Given the description of an element on the screen output the (x, y) to click on. 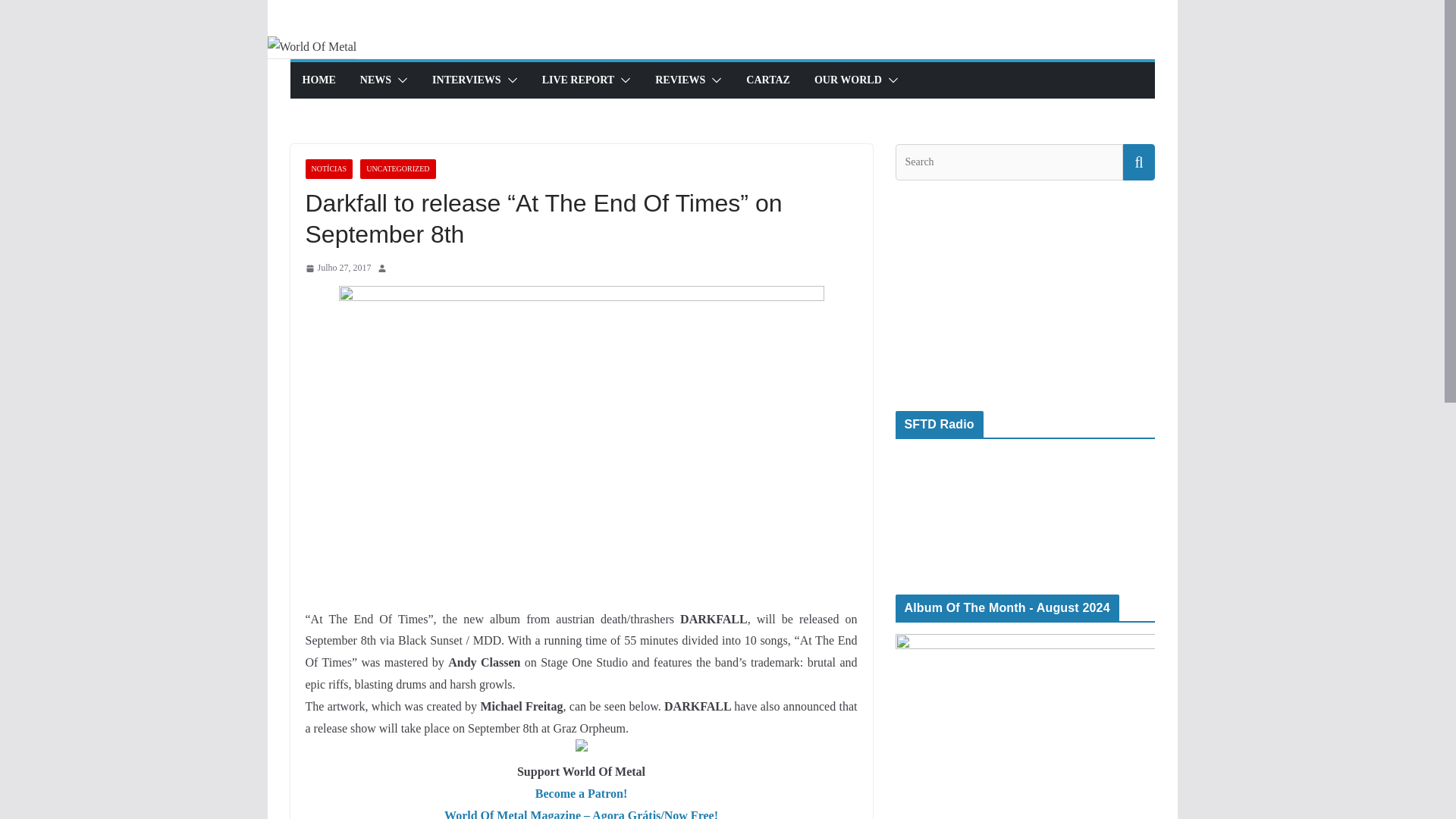
Julho 27, 2017 (337, 268)
UNCATEGORIZED (397, 168)
CARTAZ (767, 79)
LIVE REPORT (577, 79)
INTERVIEWS (466, 79)
3:47 pm (337, 268)
Album Of The Month - August 2024 (1024, 726)
OUR WORLD (847, 79)
Become a Patron! (581, 793)
NEWS (375, 79)
